Given the description of an element on the screen output the (x, y) to click on. 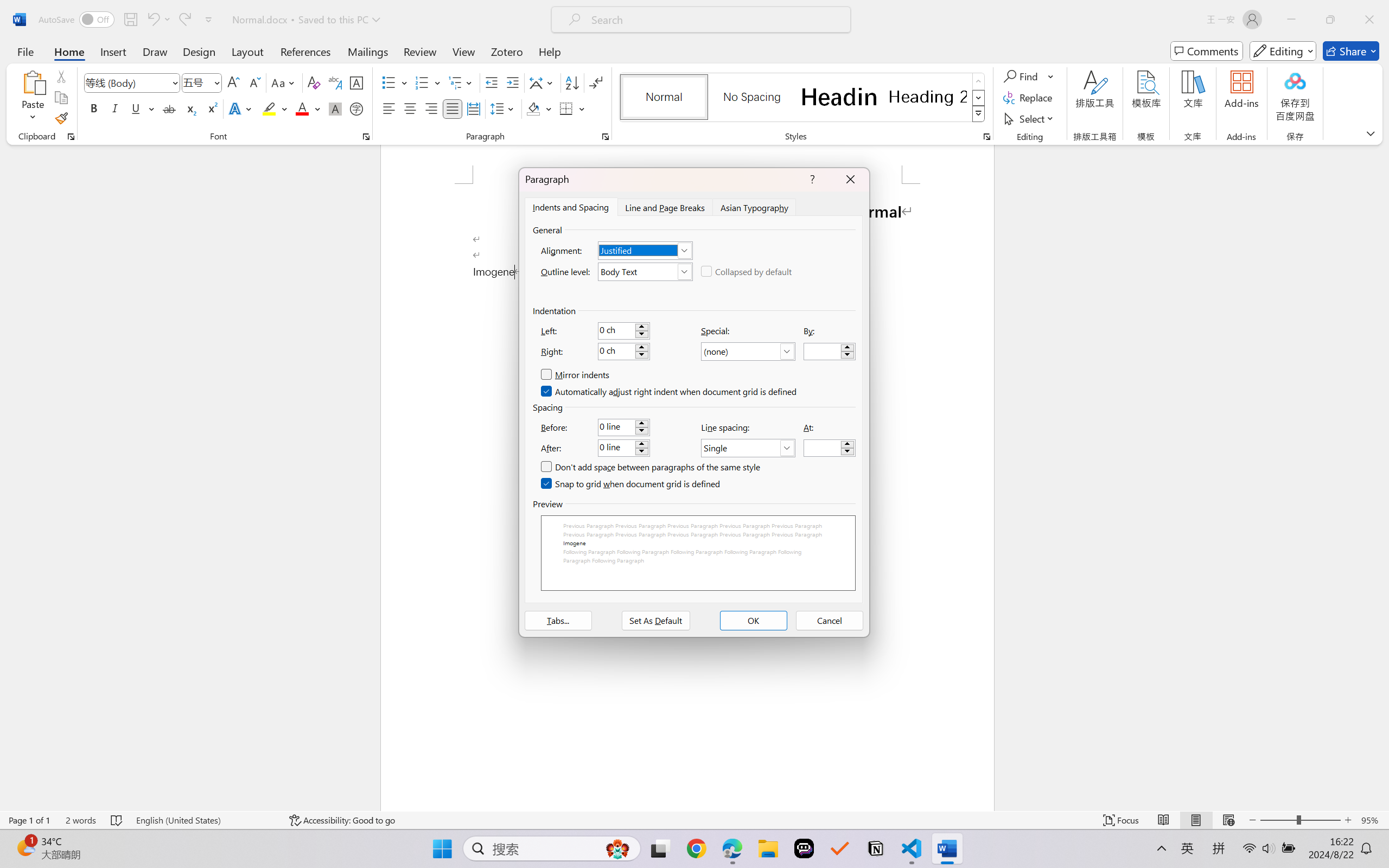
Font... (365, 136)
Undo Typing (158, 19)
Open (215, 82)
Multilevel List (461, 82)
Font Color RGB(255, 0, 0) (302, 108)
OK (753, 620)
Copy (60, 97)
Don't add space between paragraphs of the same style (651, 466)
